Given the description of an element on the screen output the (x, y) to click on. 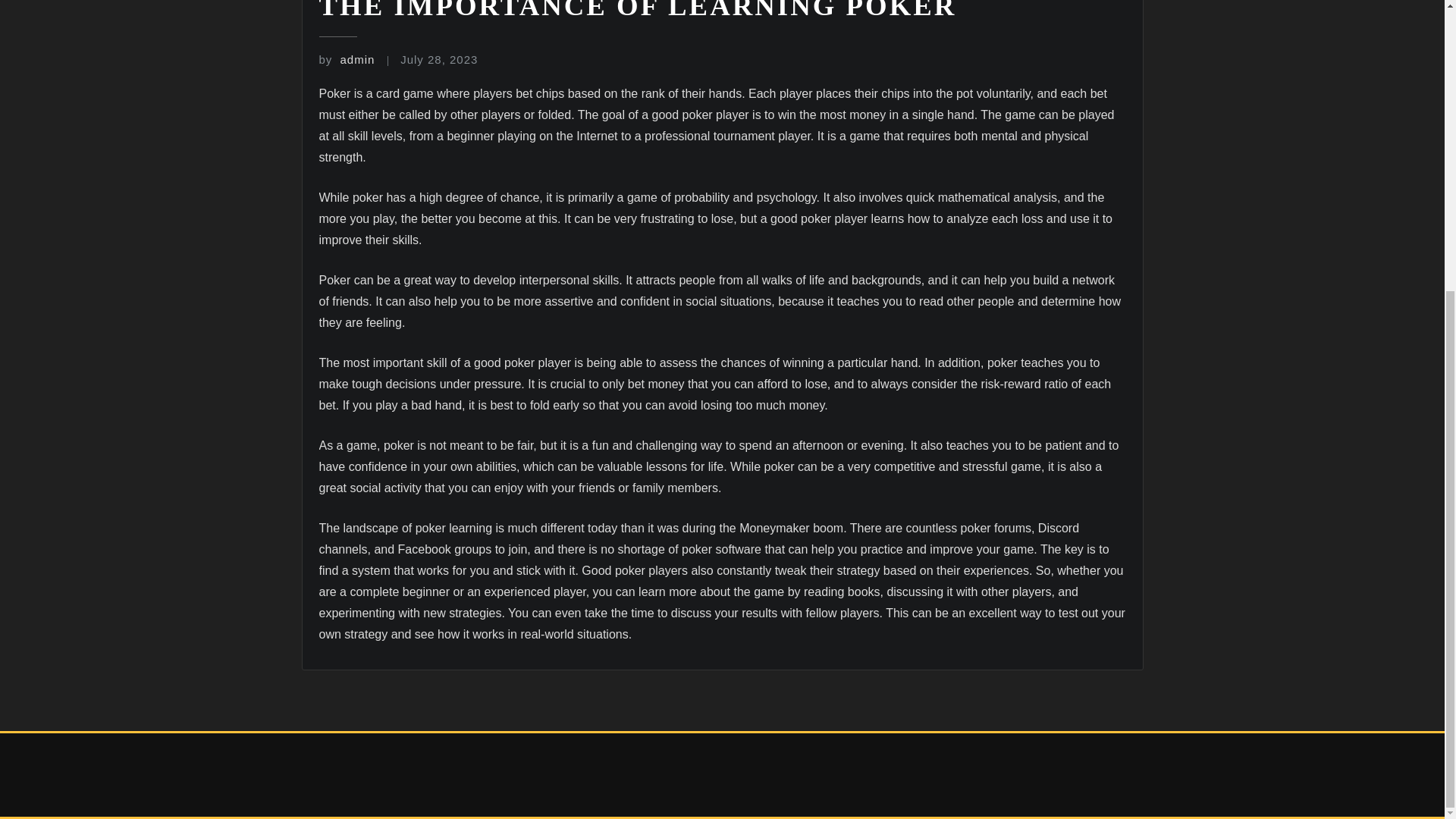
by admin (346, 59)
July 28, 2023 (438, 59)
